Given the description of an element on the screen output the (x, y) to click on. 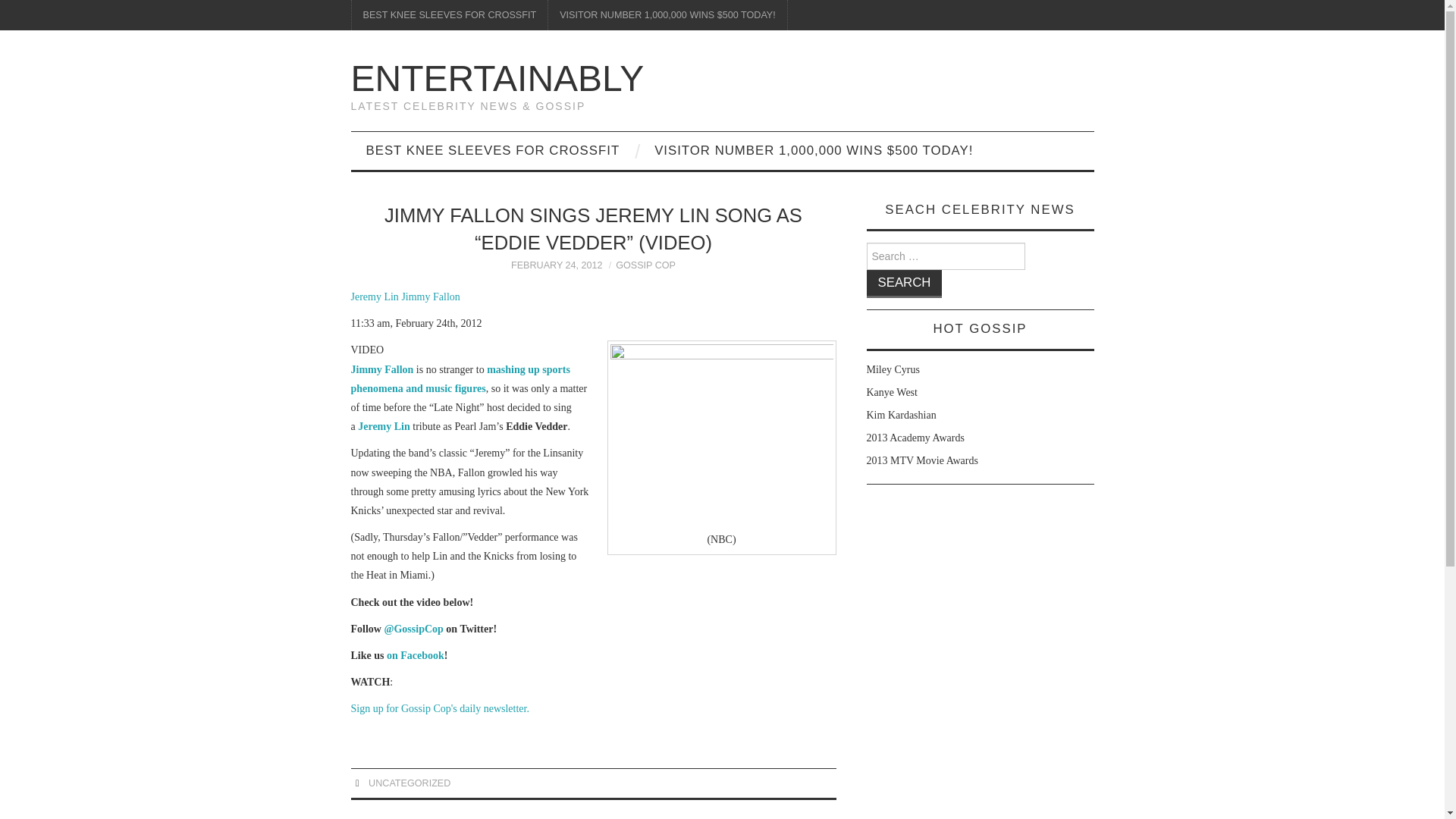
Miley Cyrus (892, 369)
Search (904, 284)
Sign up for Gossip Cop's daily newsletter. (439, 708)
mashing up sports phenomena and music figures (459, 378)
Kanye West (891, 392)
Search (904, 284)
Entertainably (496, 78)
2013 MTV Movie Awards (921, 460)
FEBRUARY 24, 2012 (556, 265)
on Facebook (415, 655)
